Given the description of an element on the screen output the (x, y) to click on. 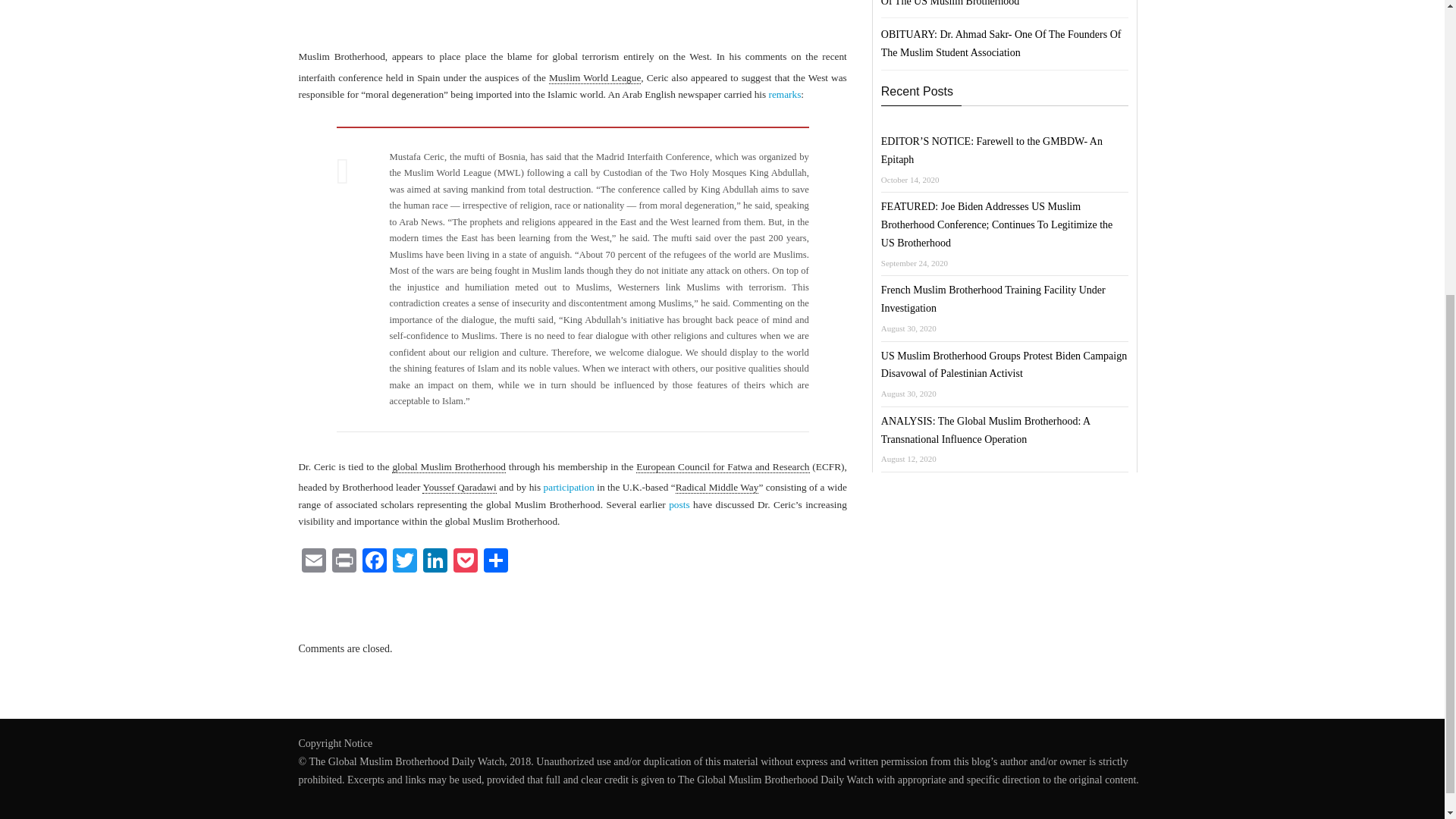
Twitter (405, 561)
Twitter (405, 561)
Radical Middle Way (716, 487)
Mustafa Ceric (375, 20)
LinkedIn (434, 561)
posts (678, 504)
Print (344, 561)
Pocket (464, 561)
participation (568, 487)
Email (313, 561)
European Council for Fatwa and Research (722, 467)
Facebook (374, 561)
Muslim World League (594, 78)
Pocket (464, 561)
remarks (784, 93)
